Given the description of an element on the screen output the (x, y) to click on. 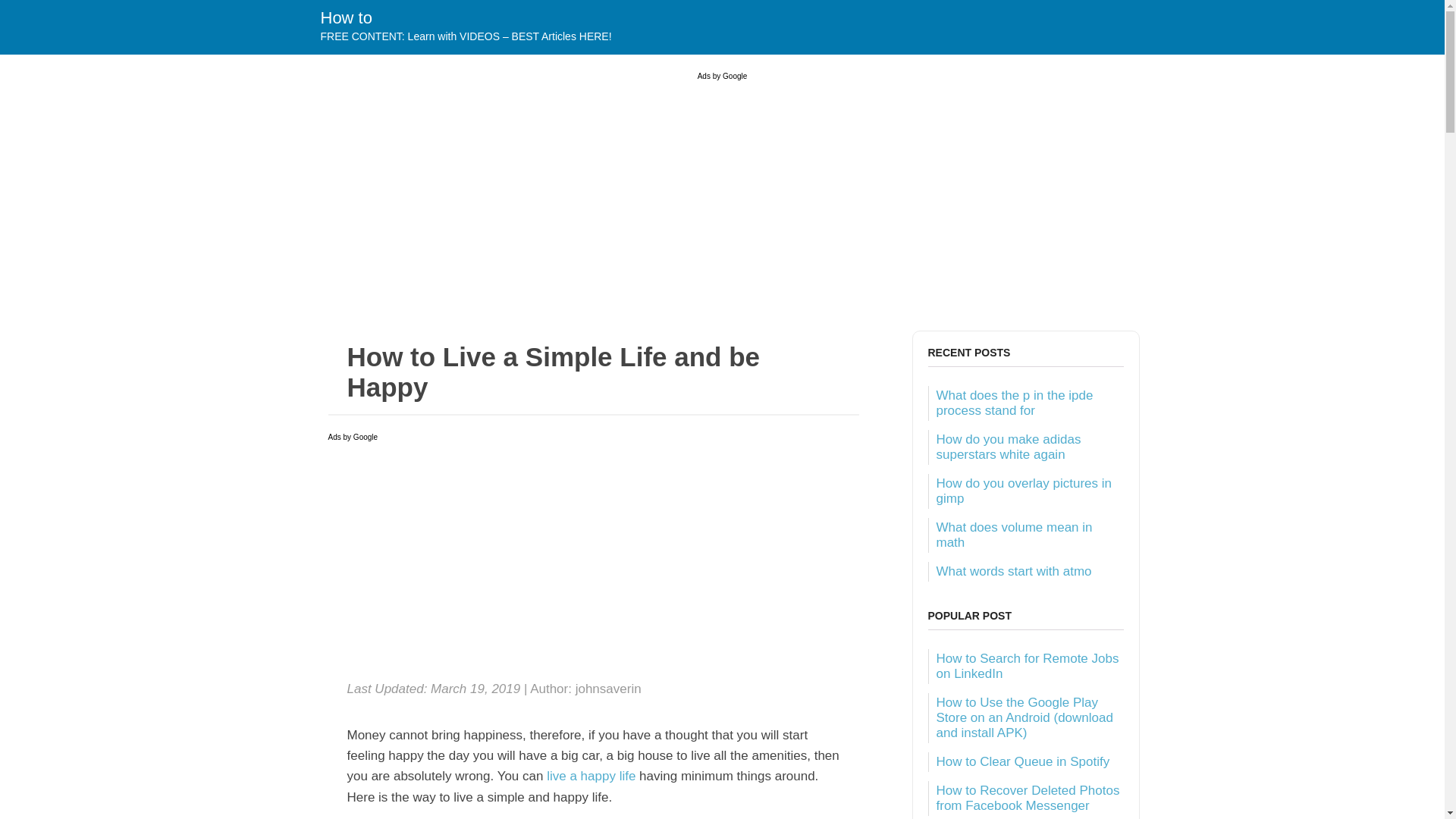
What does the p in the ipde process stand for (1014, 402)
Advertisement (593, 562)
How to Search for Remote Jobs on LinkedIn (1027, 665)
What does volume mean in math (1014, 534)
What words start with atmo (1013, 571)
How to Clear Queue in Spotify (1022, 761)
johnsaverin (608, 688)
How do you make adidas superstars white again (1008, 446)
How do you overlay pictures in gimp (1024, 490)
